Given the description of an element on the screen output the (x, y) to click on. 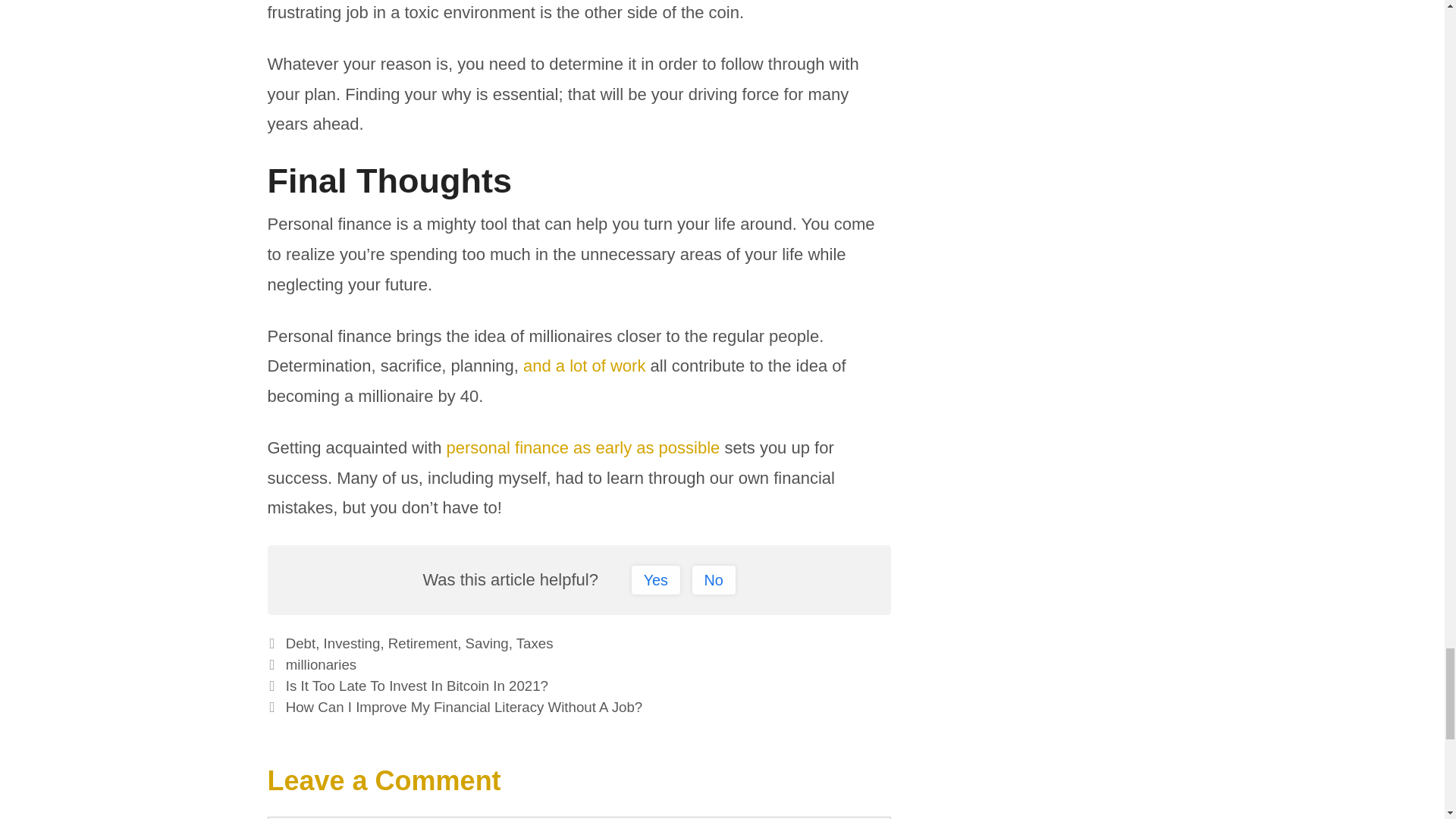
Debt (300, 643)
Is It Too Late To Invest In Bitcoin In 2021? (416, 685)
and a lot of work (583, 365)
personal finance as early as possible (583, 447)
Retirement (422, 643)
Saving (486, 643)
Investing (351, 643)
How Can I Improve My Financial Literacy Without A Job? (464, 706)
millionaries (320, 664)
Taxes (534, 643)
